Given the description of an element on the screen output the (x, y) to click on. 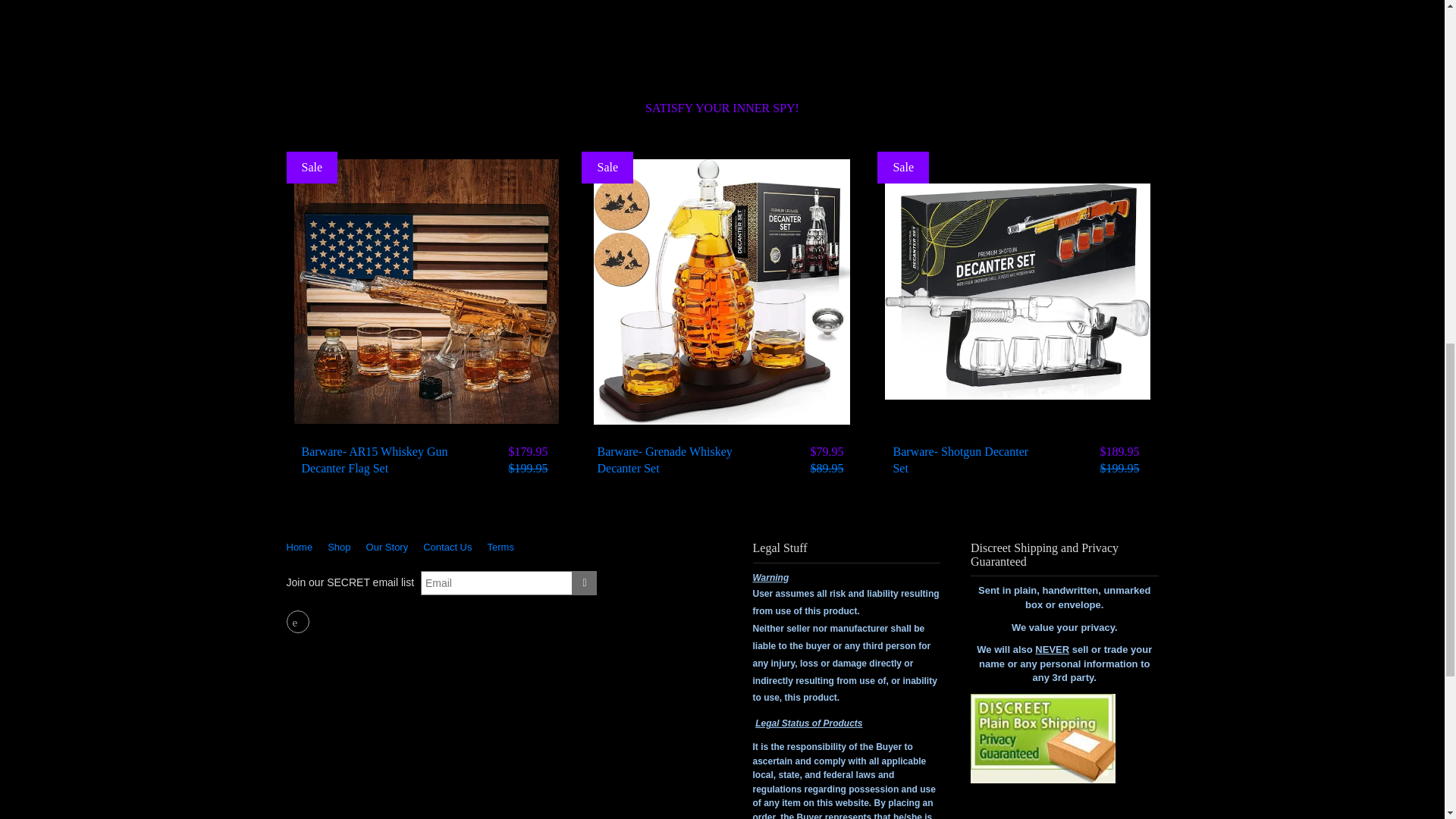
Home (303, 546)
Sale (311, 167)
Sale (606, 167)
Shop (339, 546)
Our Story (387, 546)
Sale (902, 167)
SATISFY YOUR INNER SPY! (722, 107)
